Given the description of an element on the screen output the (x, y) to click on. 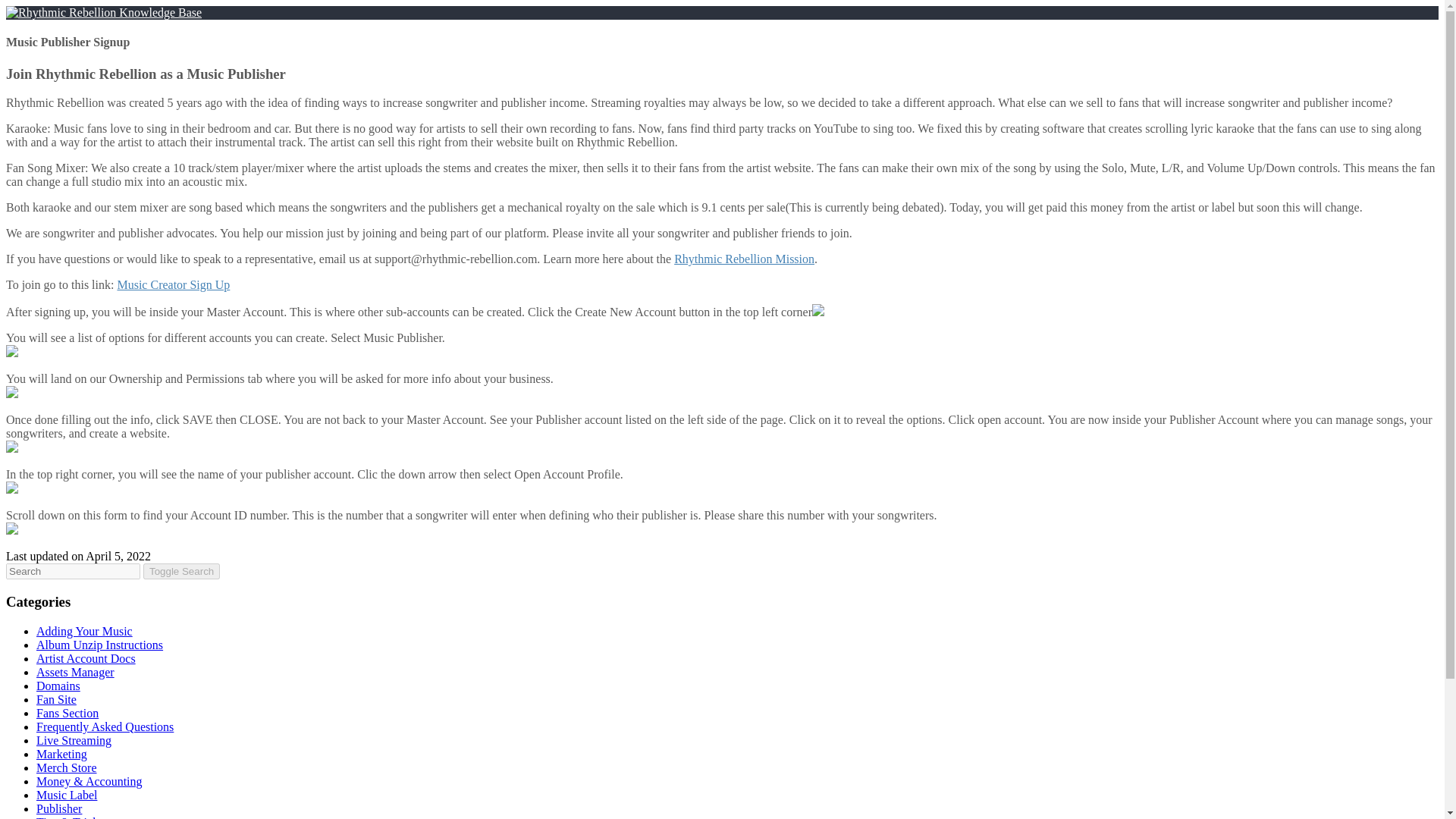
Fans Section (67, 712)
Adding Your Music (84, 631)
Publisher (58, 808)
Toggle Search (180, 571)
Music Creator Sign Up (173, 284)
Album Unzip Instructions (99, 644)
Artist Account Docs (85, 658)
Rhythmic Rebellion Mission (743, 258)
Frequently Asked Questions (104, 726)
search-query (72, 571)
Marketing (61, 753)
Music Label (66, 794)
Fan Site (56, 698)
Live Streaming (74, 739)
Merch Store (66, 767)
